Given the description of an element on the screen output the (x, y) to click on. 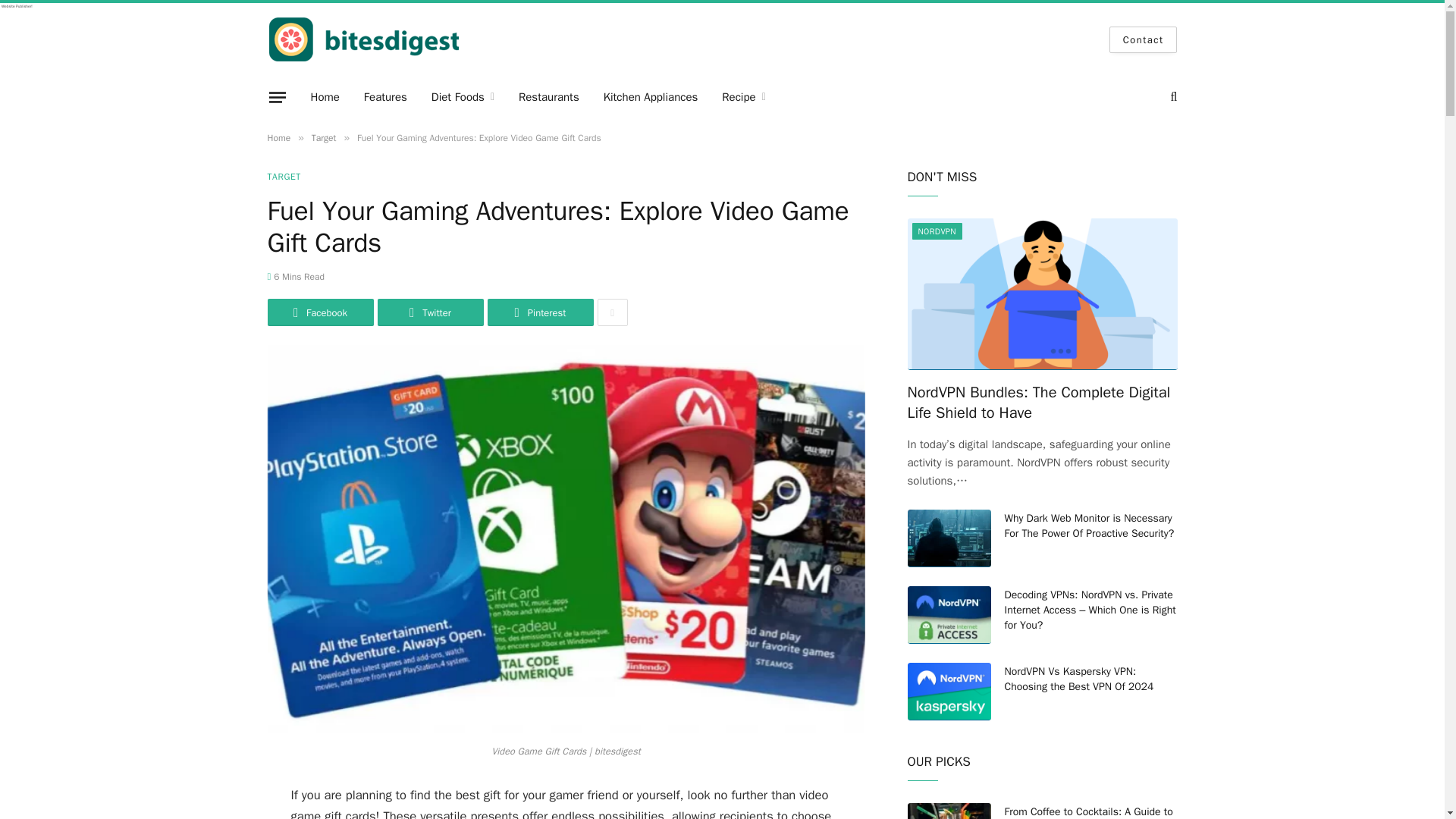
Kitchen Appliances (650, 96)
Home (325, 96)
Recipe (743, 96)
Facebook (319, 311)
Bitesdigest (369, 39)
Target (323, 137)
TARGET (282, 176)
Diet Foods (462, 96)
Share on Twitter (430, 311)
Restaurants (548, 96)
